Given the description of an element on the screen output the (x, y) to click on. 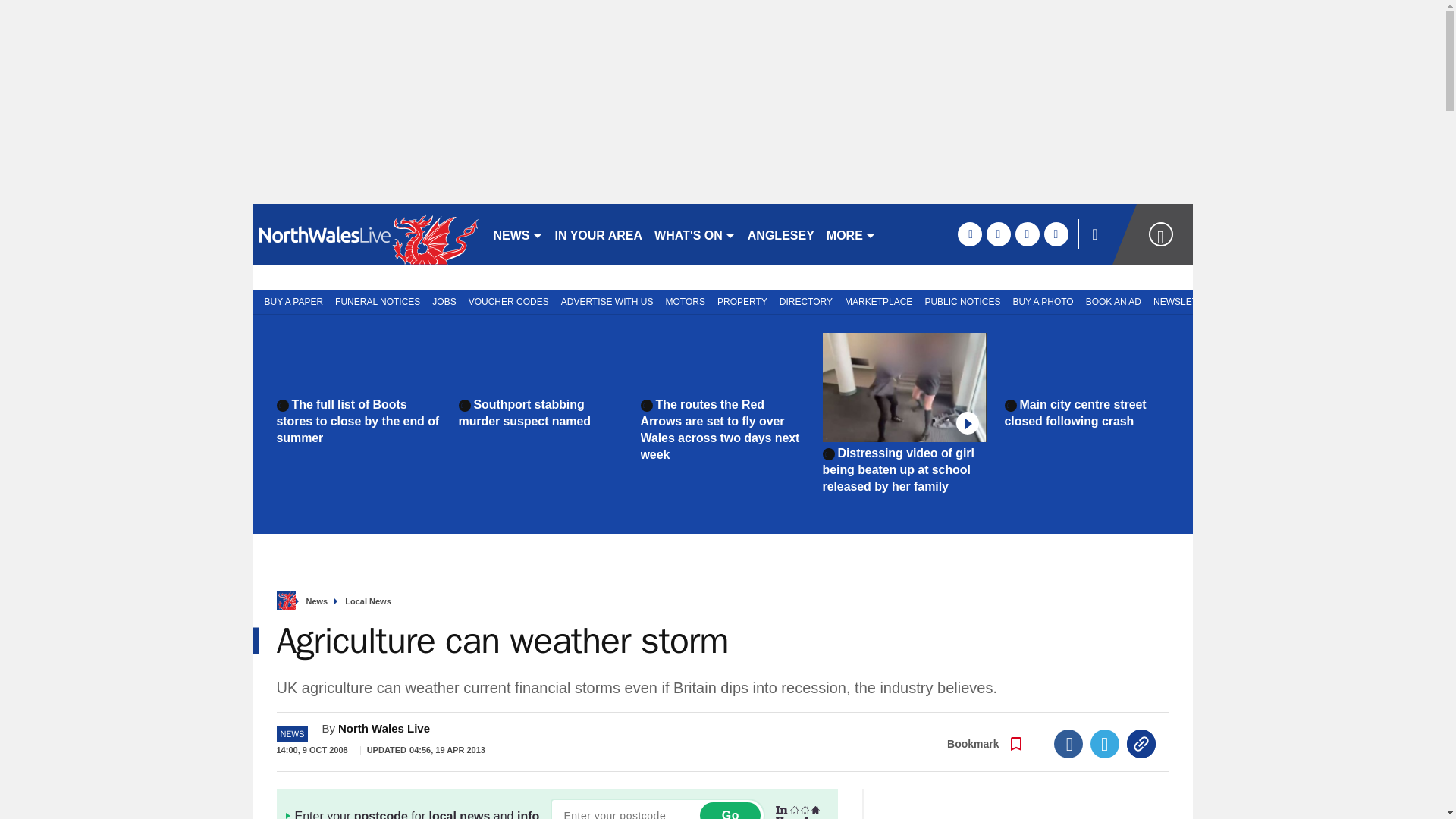
IN YOUR AREA (598, 233)
Go (730, 810)
JOBS (443, 300)
BUY A PAPER (290, 300)
FUNERAL NOTICES (377, 300)
MORE (851, 233)
PROPERTY (742, 300)
Facebook (1068, 743)
twitter (997, 233)
facebook (968, 233)
Twitter (1104, 743)
ADVERTISE WITH US (606, 300)
MOTORS (685, 300)
pinterest (1026, 233)
instagram (1055, 233)
